Given the description of an element on the screen output the (x, y) to click on. 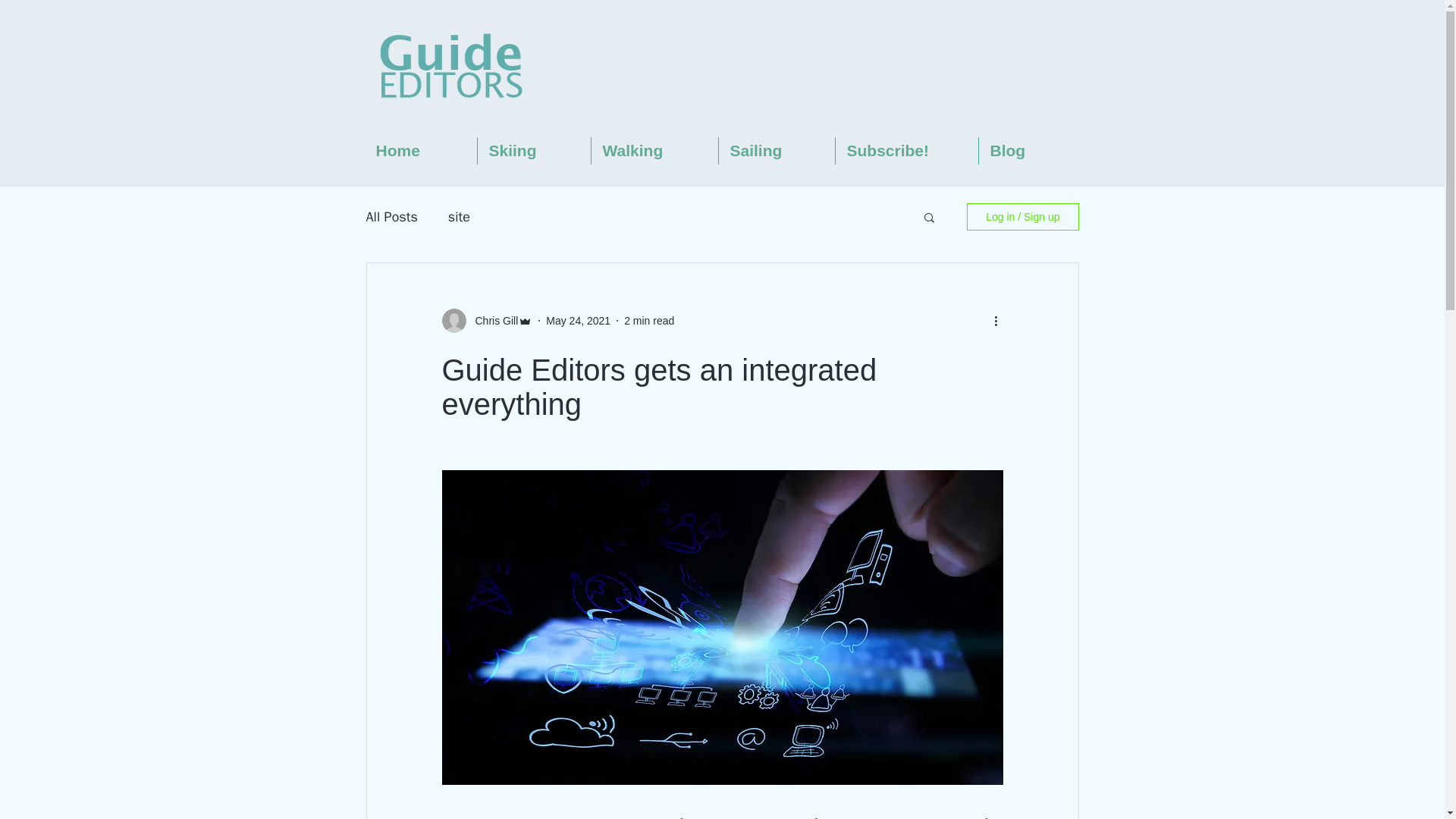
Chris Gill (491, 320)
Skiing (534, 150)
Blog (1028, 150)
All Posts (390, 217)
Subscribe! (906, 150)
May 24, 2021 (578, 319)
site (459, 217)
Walking (654, 150)
Home (420, 150)
2 min read (649, 319)
Sailing (776, 150)
